Given the description of an element on the screen output the (x, y) to click on. 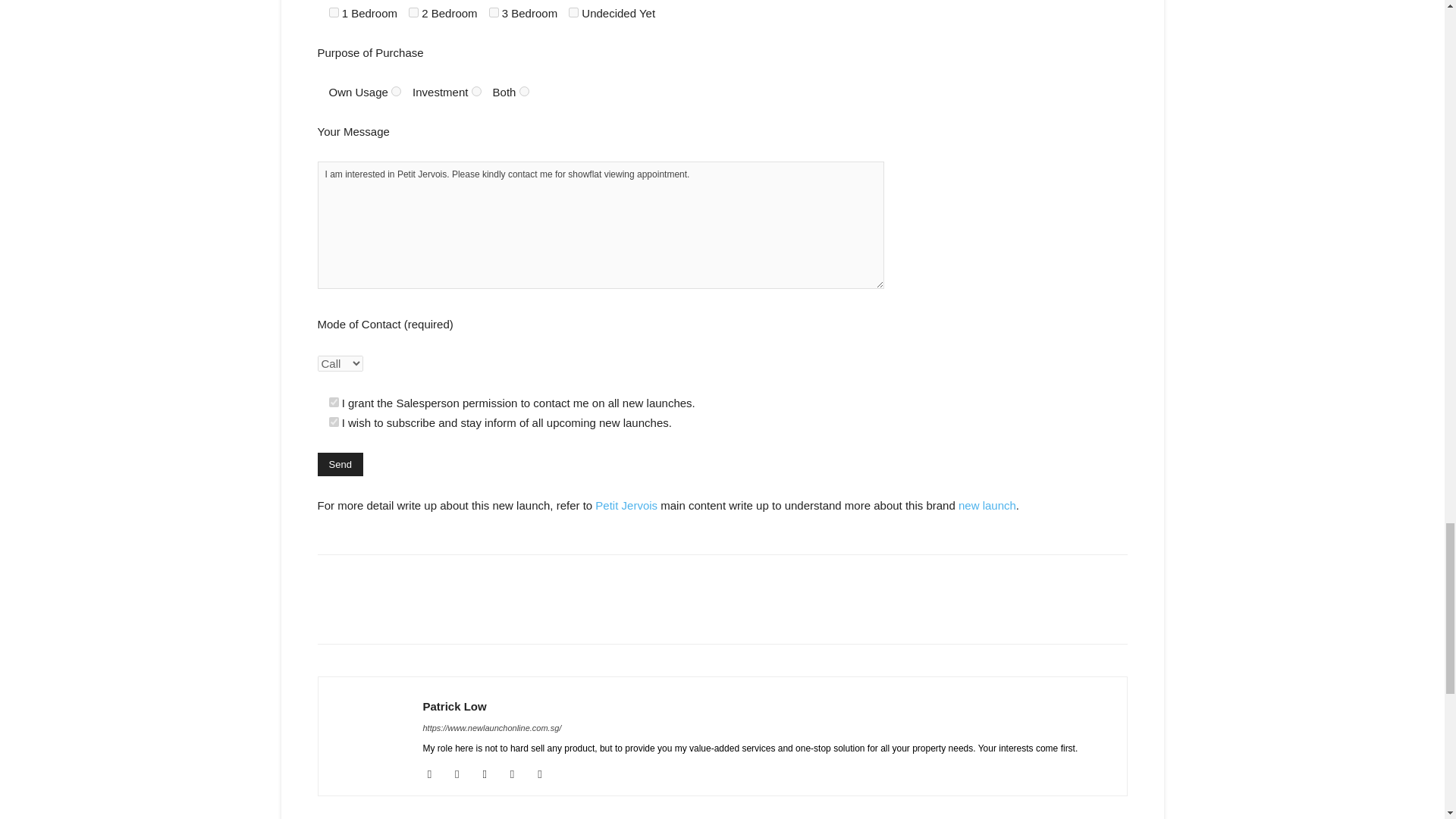
Send (339, 463)
Both (524, 91)
Investment (476, 91)
2 Bedroom (414, 12)
Own Usage (396, 91)
Undecided Yet (573, 12)
3 Bedroom (494, 12)
1 Bedroom (334, 12)
